Given the description of an element on the screen output the (x, y) to click on. 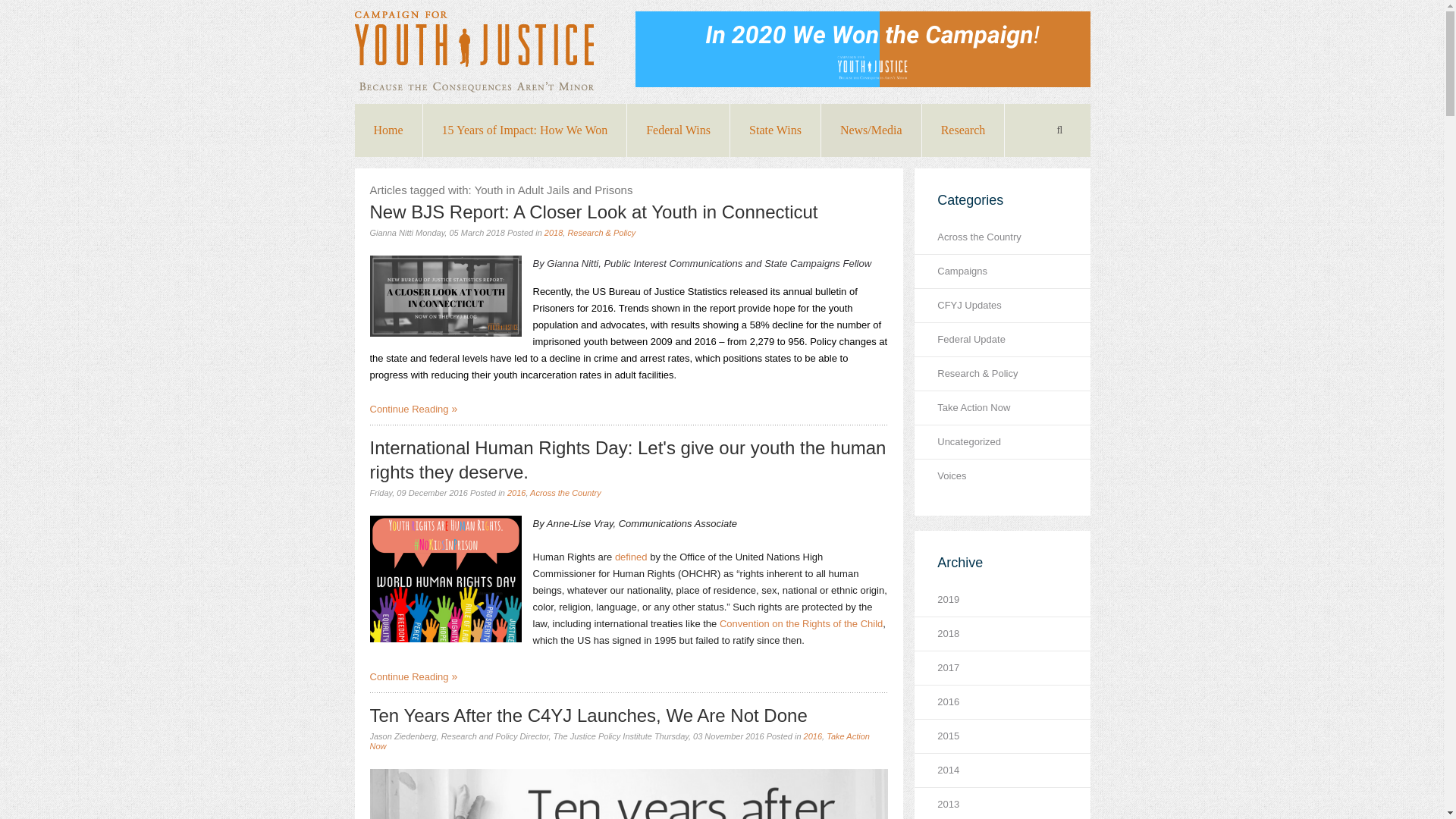
Ten Years After the C4YJ Launches, We Are Not Done (588, 715)
2016 (812, 736)
Continue Reading (413, 408)
Take Action Now (619, 741)
New BJS Report: A Closer Look at Youth in Connecticut (445, 295)
New BJS Report: A Closer Look at Youth in Connecticut (593, 211)
2018 (553, 232)
Across the Country (565, 492)
State Wins (775, 130)
15 Years of Impact: How We Won (525, 130)
Ten Years After the C4YJ Launches, We Are Not Done (588, 715)
defined (630, 556)
Continue Reading (413, 676)
Research (963, 130)
